Given the description of an element on the screen output the (x, y) to click on. 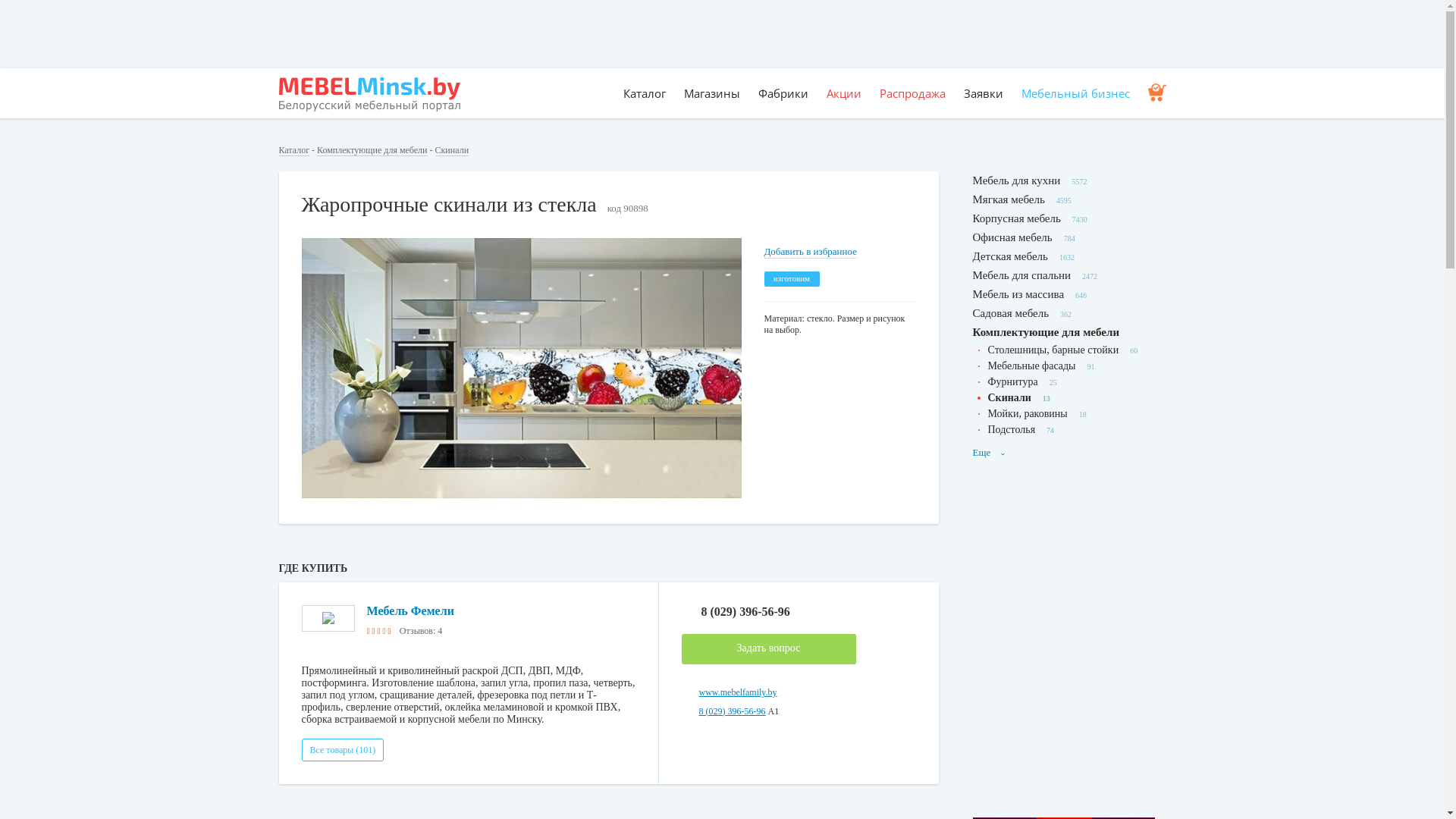
8 (029) 396-56-96 Element type: text (797, 611)
8 (029) 396-56-96 Element type: text (732, 711)
www.mebelfamily.by Element type: text (738, 692)
